Given the description of an element on the screen output the (x, y) to click on. 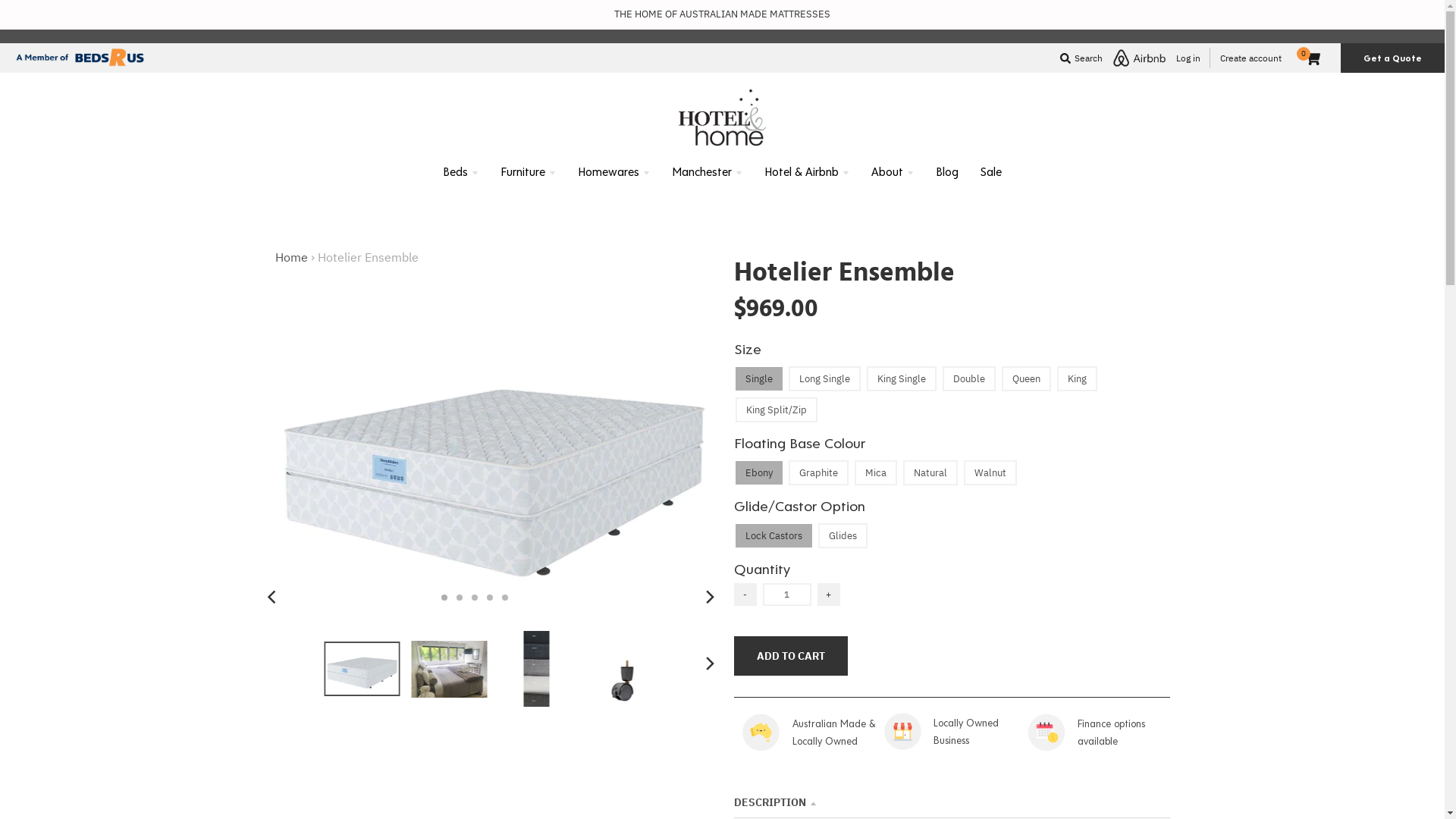
+ Element type: text (828, 594)
Create account Element type: text (1250, 57)
Hotel & Airbnb Element type: text (806, 171)
Beds Element type: text (460, 171)
0 Element type: text (1312, 58)
About Element type: text (892, 171)
Log in Element type: text (1187, 57)
Furniture Element type: text (527, 171)
THE HOME OF AUSTRALIAN MADE MATTRESSES Element type: text (722, 14)
Search Element type: text (1081, 57)
ADD TO CART Element type: text (790, 655)
Get a Quote Element type: text (1392, 57)
Homewares Element type: text (613, 171)
Manchester Element type: text (707, 171)
Home Element type: text (290, 256)
- Element type: text (745, 594)
Sale Element type: text (990, 171)
Blog Element type: text (946, 171)
